Given the description of an element on the screen output the (x, y) to click on. 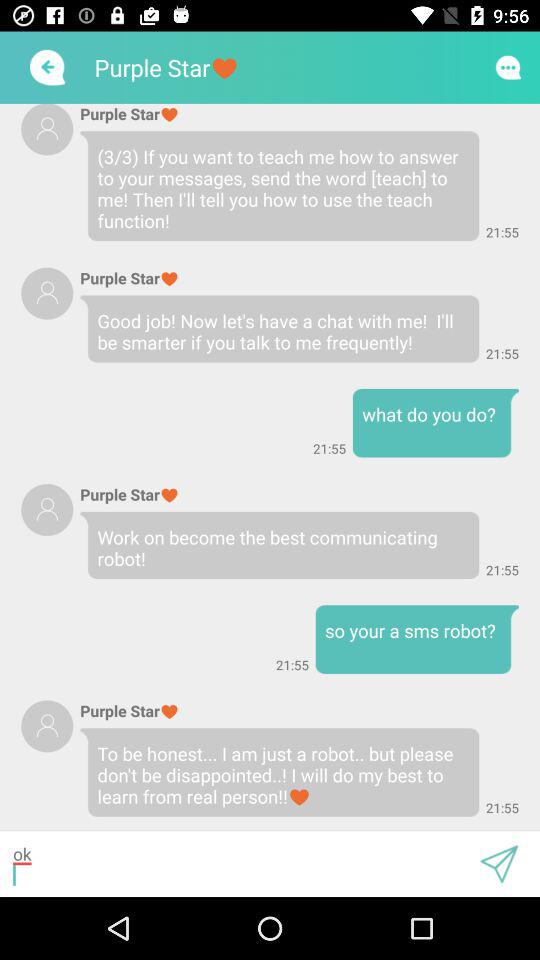
this button is used to chat with others (508, 67)
